Given the description of an element on the screen output the (x, y) to click on. 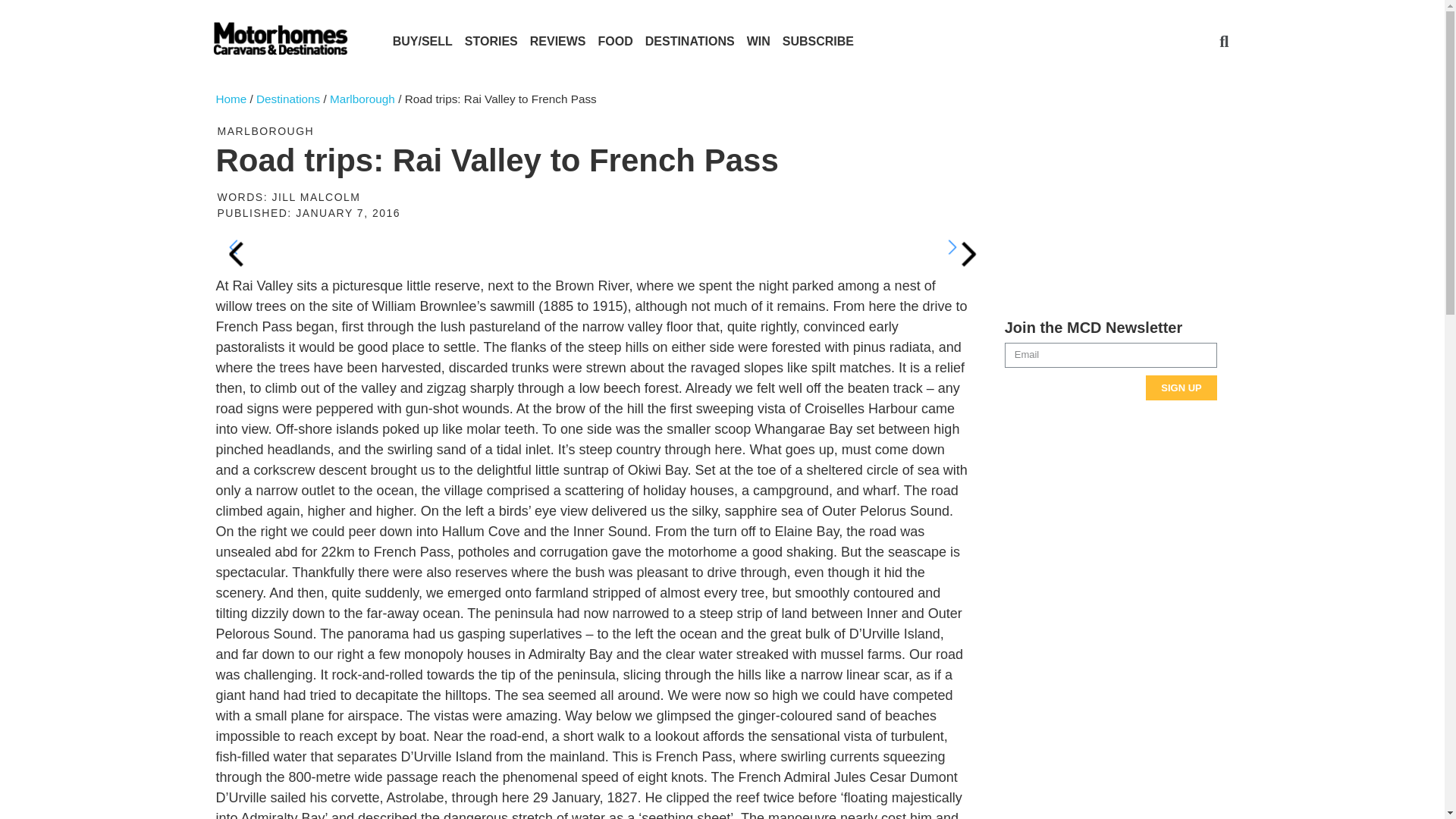
DESTINATIONS (690, 41)
REVIEWS (558, 41)
3rd party ad content (1110, 209)
FOOD (615, 41)
STORIES (491, 41)
